Given the description of an element on the screen output the (x, y) to click on. 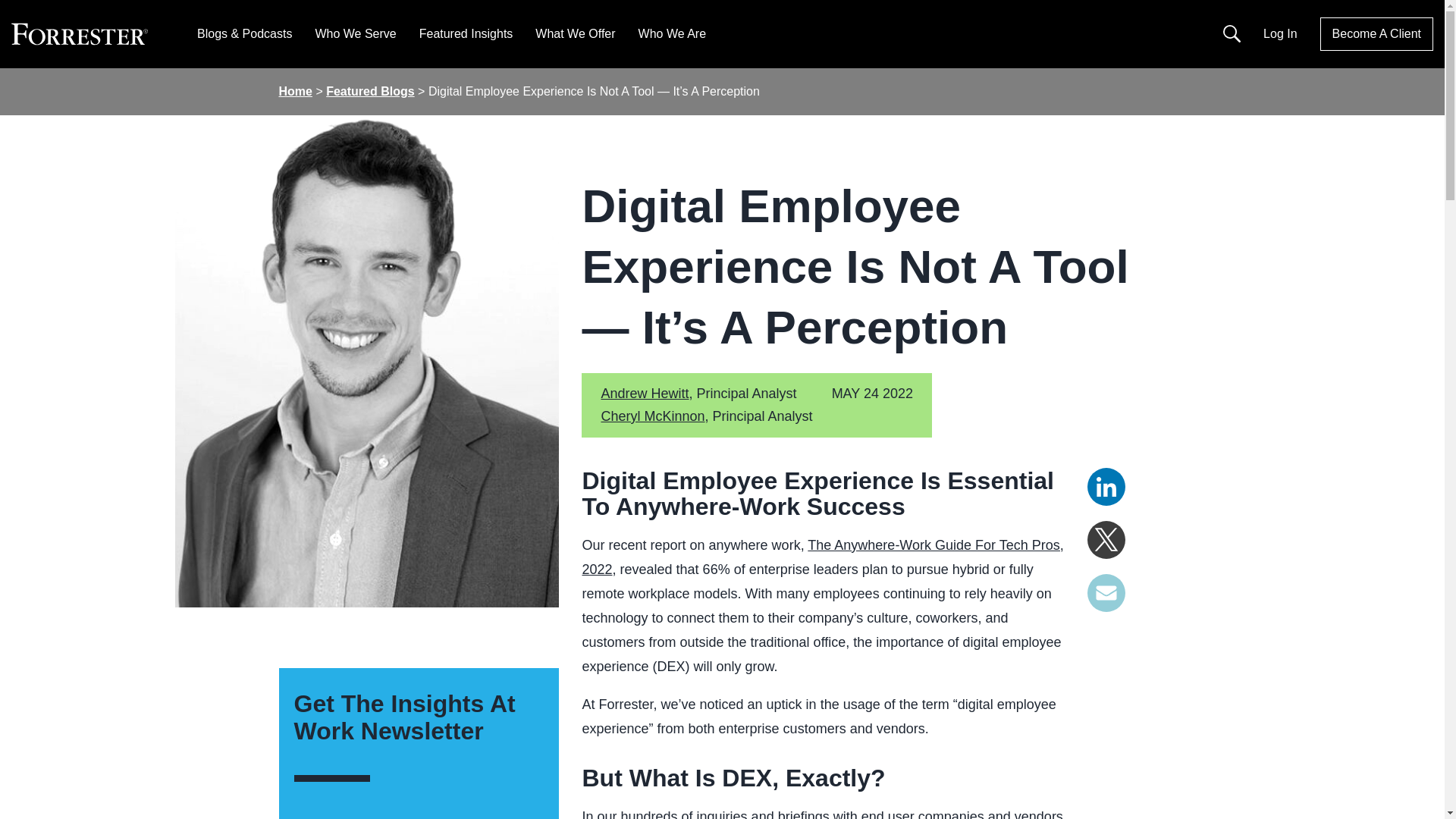
Featured Insights (466, 33)
Posts by Andrew Hewitt (643, 392)
What We Offer (574, 33)
Who We Serve (355, 33)
